Given the description of an element on the screen output the (x, y) to click on. 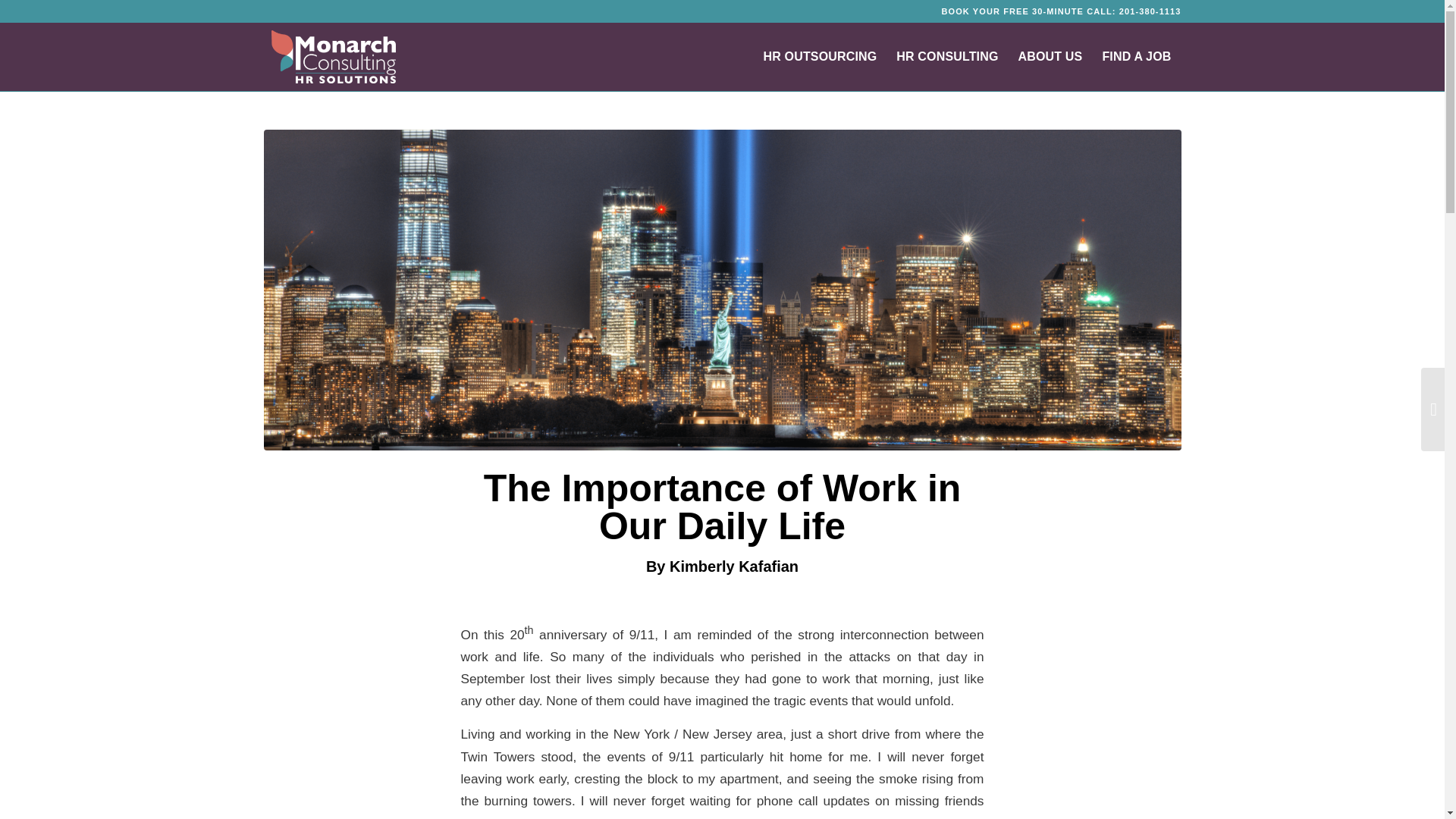
FIND A JOB (1136, 56)
HR CONSULTING (946, 56)
Permanent Link: The Importance of Work in Our Daily Life (721, 506)
201-380-1113 (1149, 11)
HR OUTSOURCING (820, 56)
ABOUT US (1051, 56)
The Importance of Work in Our Daily Life (721, 506)
